Given the description of an element on the screen output the (x, y) to click on. 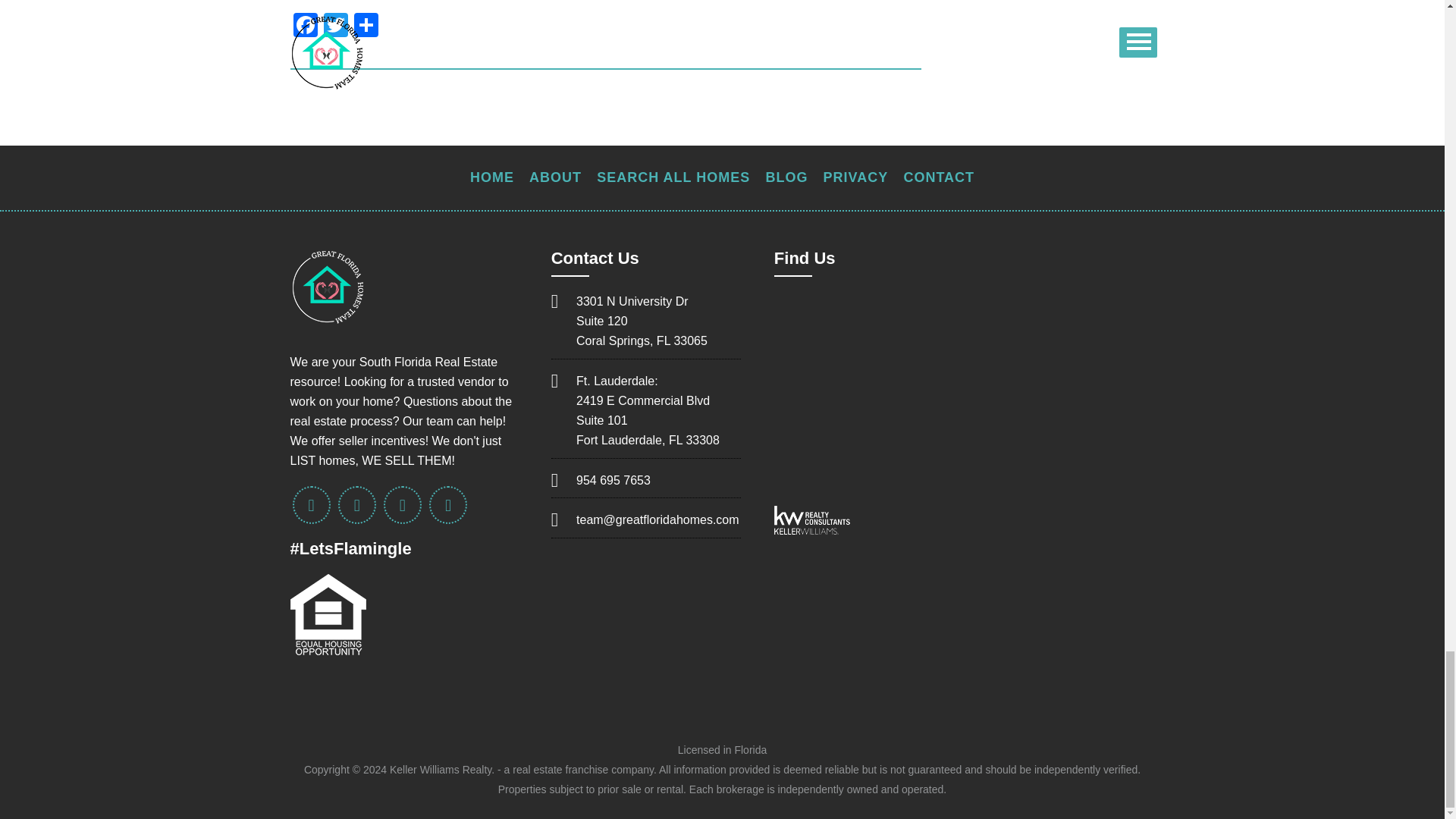
Twitter (335, 26)
Twitter (335, 26)
Facebook (304, 26)
Facebook (304, 26)
